Given the description of an element on the screen output the (x, y) to click on. 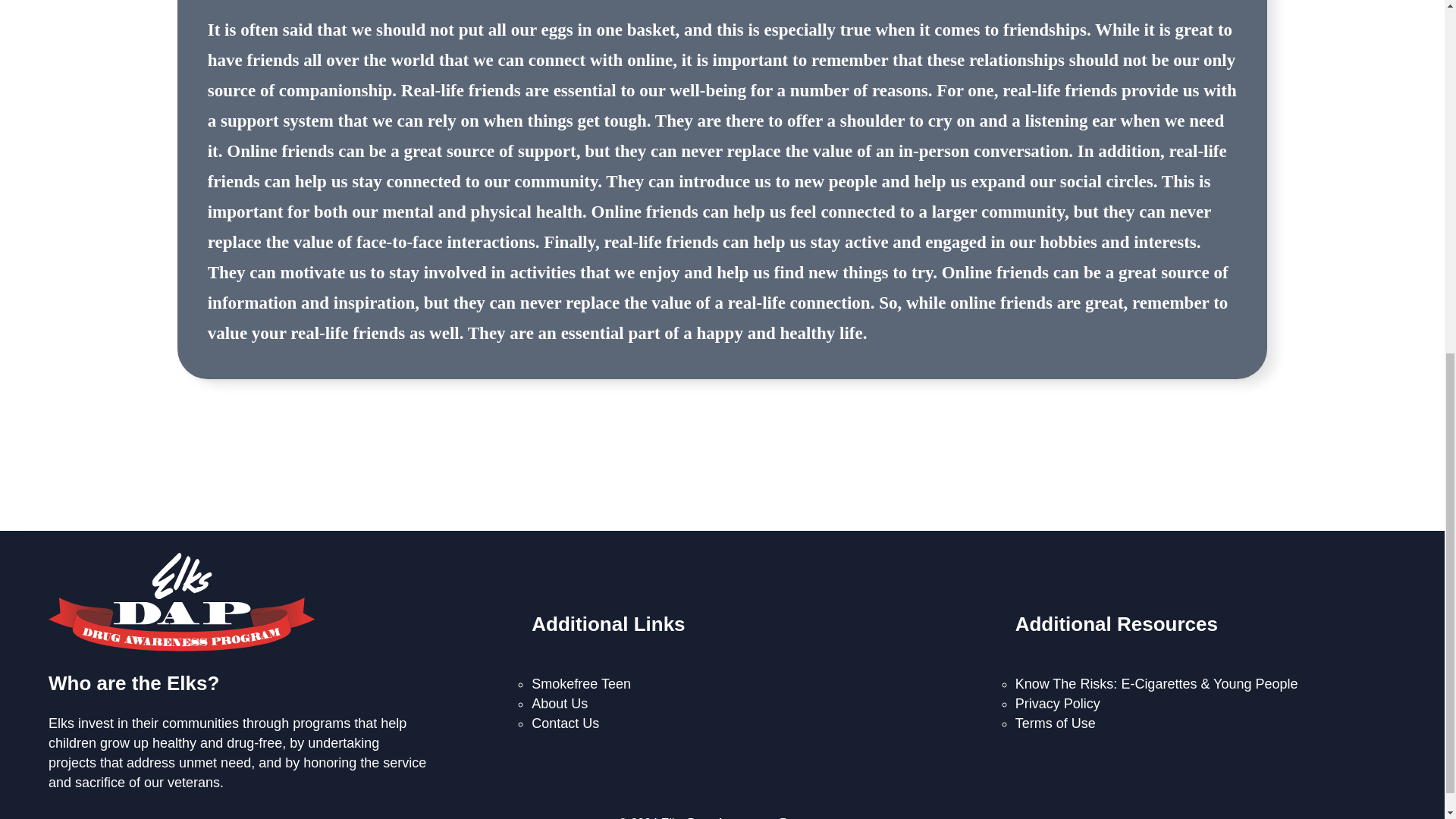
Terms of Use (1055, 723)
Privacy Policy (1057, 703)
Contact Us (564, 723)
About Us (559, 703)
Smokefree Teen (580, 683)
